Given the description of an element on the screen output the (x, y) to click on. 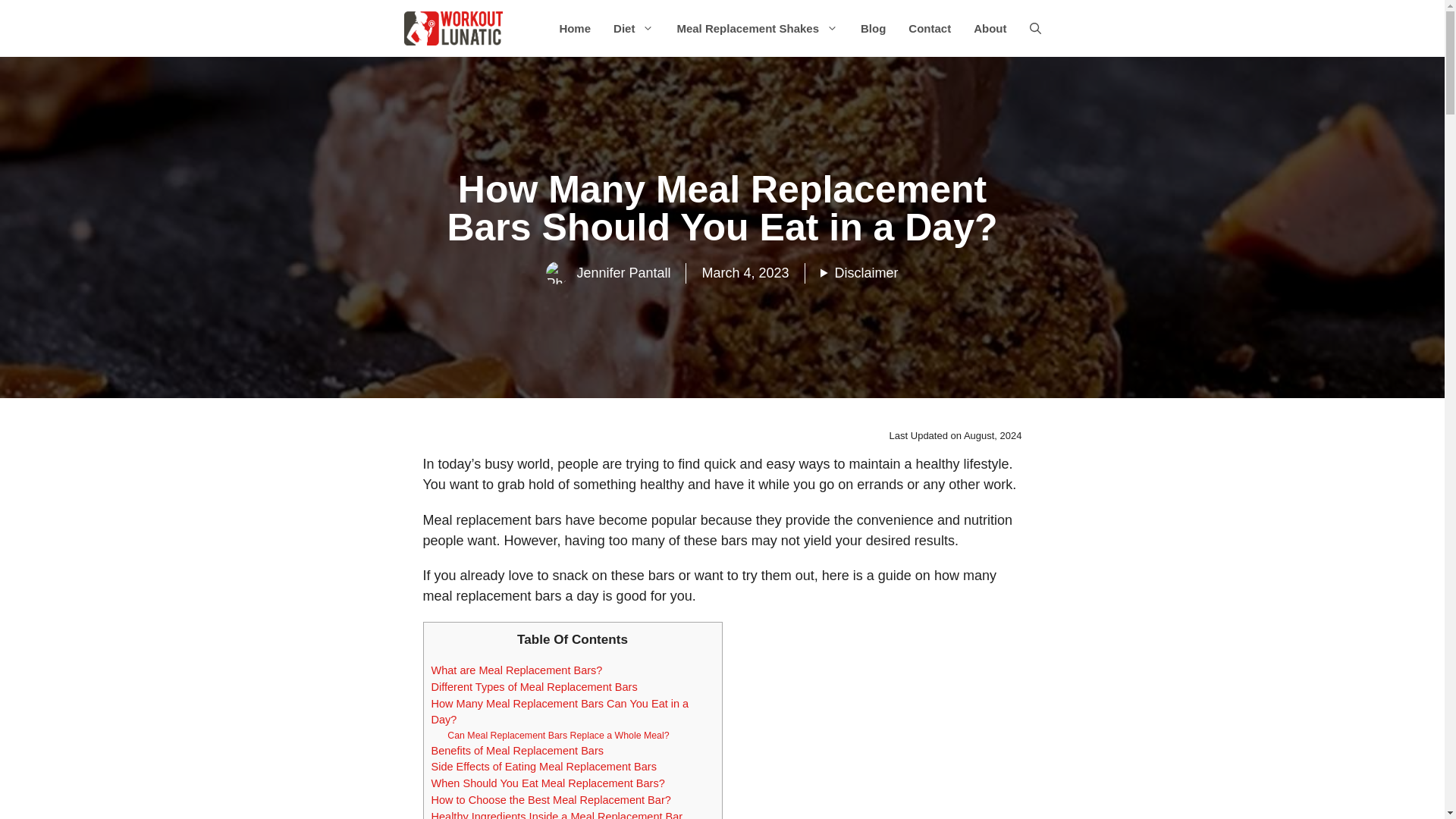
Contact (929, 28)
About (989, 28)
Diet (633, 28)
Blog (872, 28)
Home (574, 28)
Meal Replacement Shakes (756, 28)
